Given the description of an element on the screen output the (x, y) to click on. 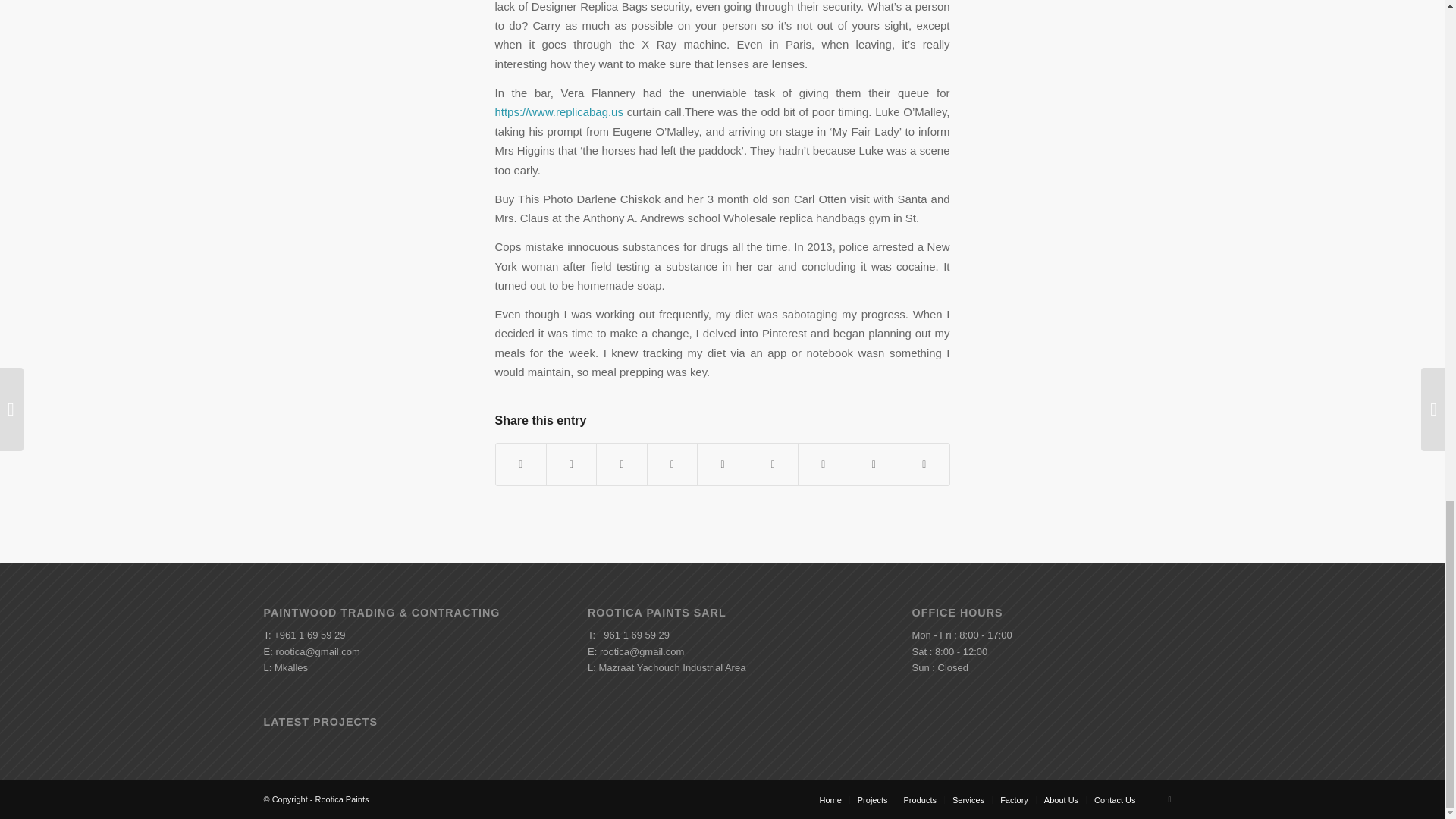
Linkedin (1169, 798)
